Given the description of an element on the screen output the (x, y) to click on. 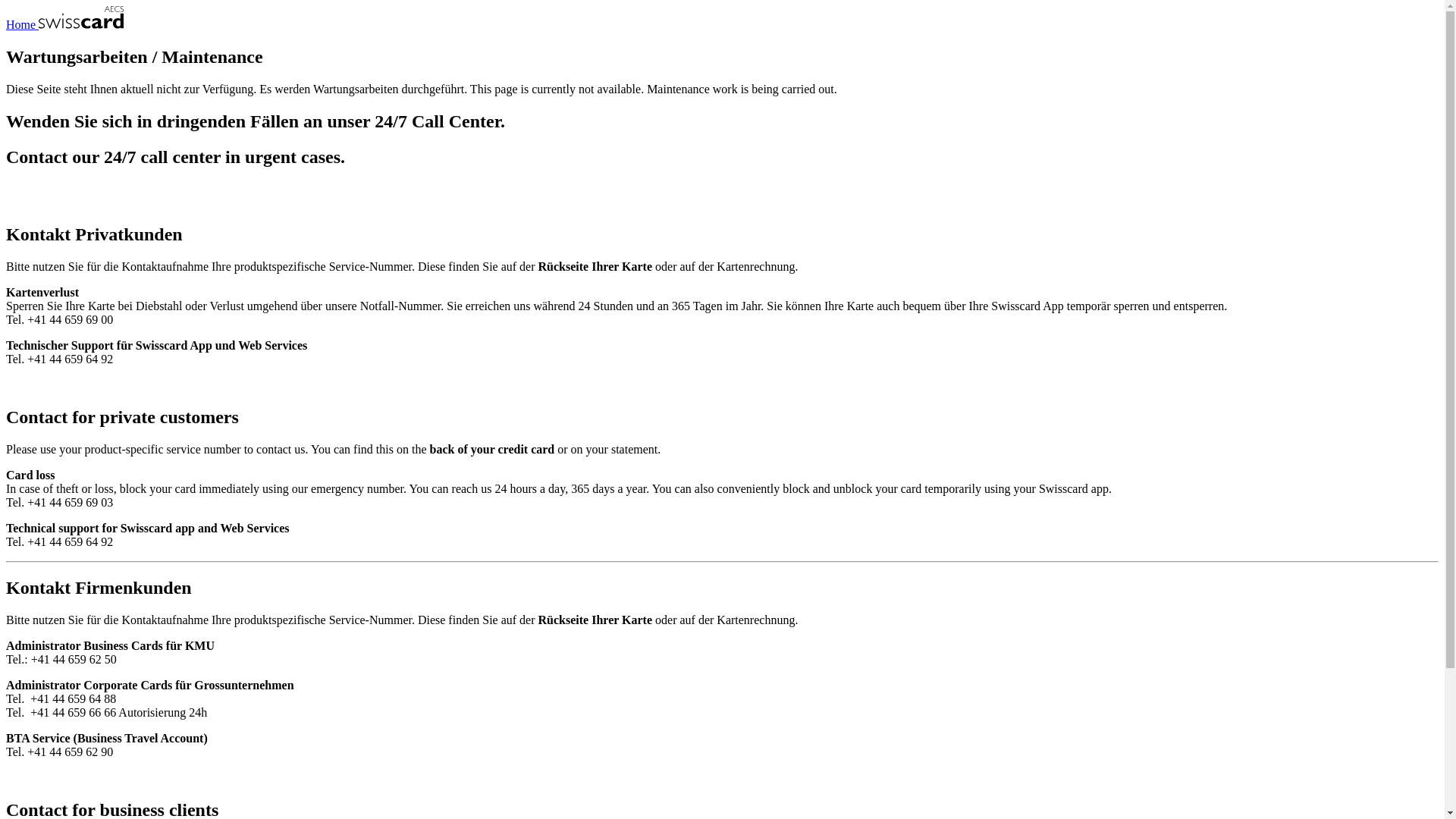
Home Element type: text (64, 24)
